Given the description of an element on the screen output the (x, y) to click on. 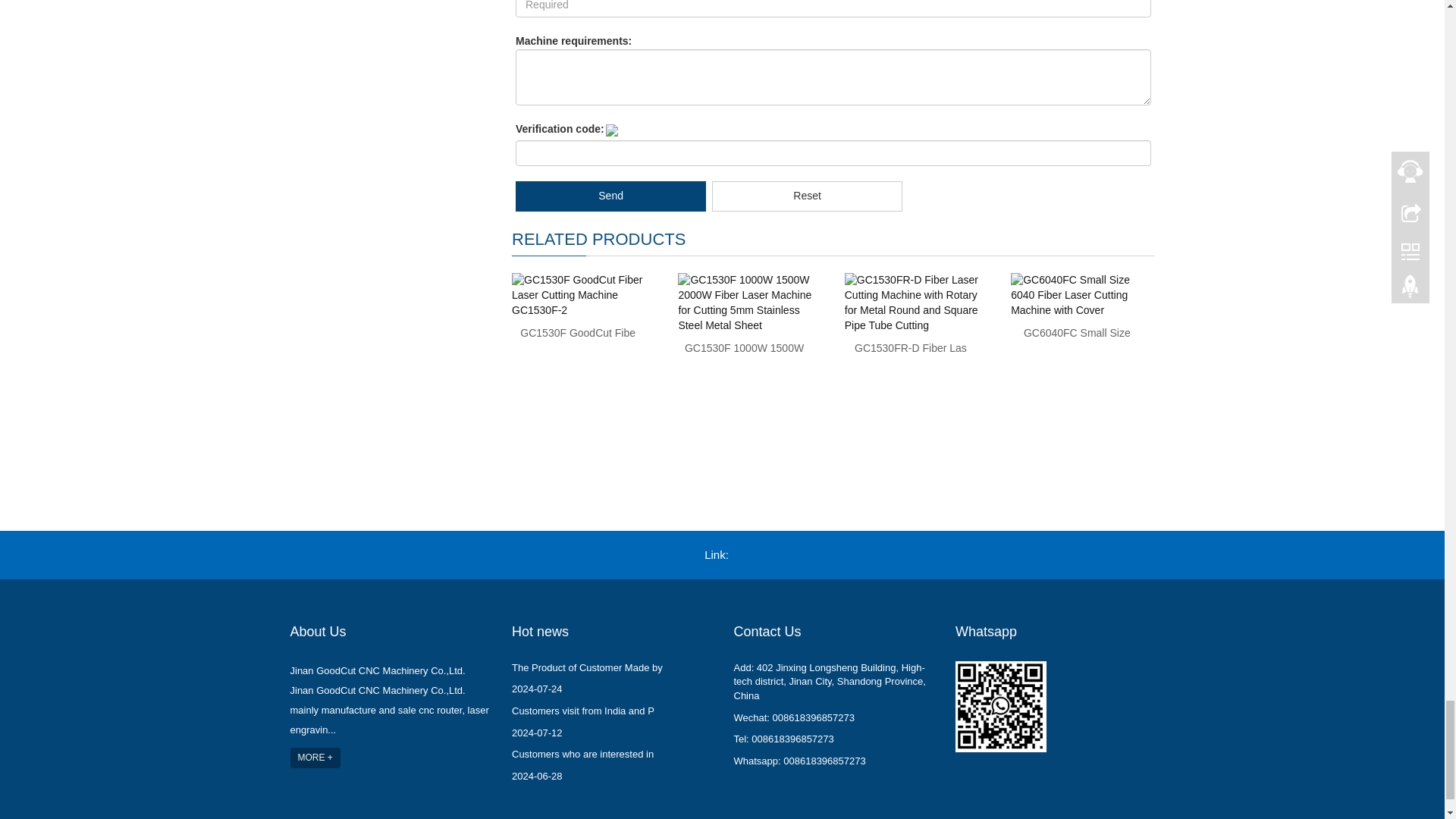
The Product of Customer Made by GoodCut Wood Lathe Machine (587, 667)
GC1530F GoodCut Fiber Laser Cutting Machine GC1530F-2 (576, 332)
